Given the description of an element on the screen output the (x, y) to click on. 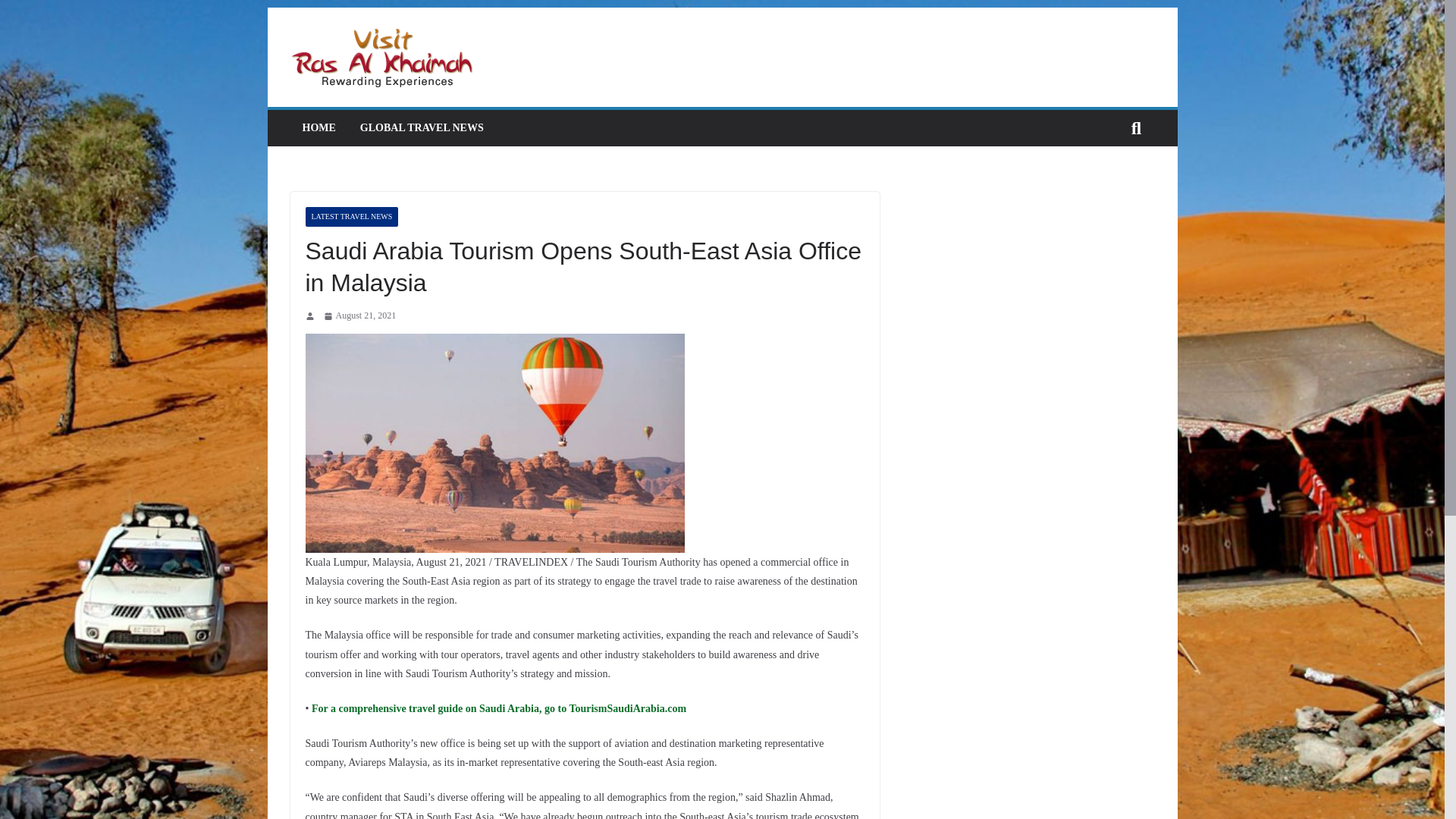
LATEST TRAVEL NEWS (350, 216)
GLOBAL TRAVEL NEWS (421, 127)
August 21, 2021 (359, 315)
12:58 am (359, 315)
HOME (317, 127)
